Given the description of an element on the screen output the (x, y) to click on. 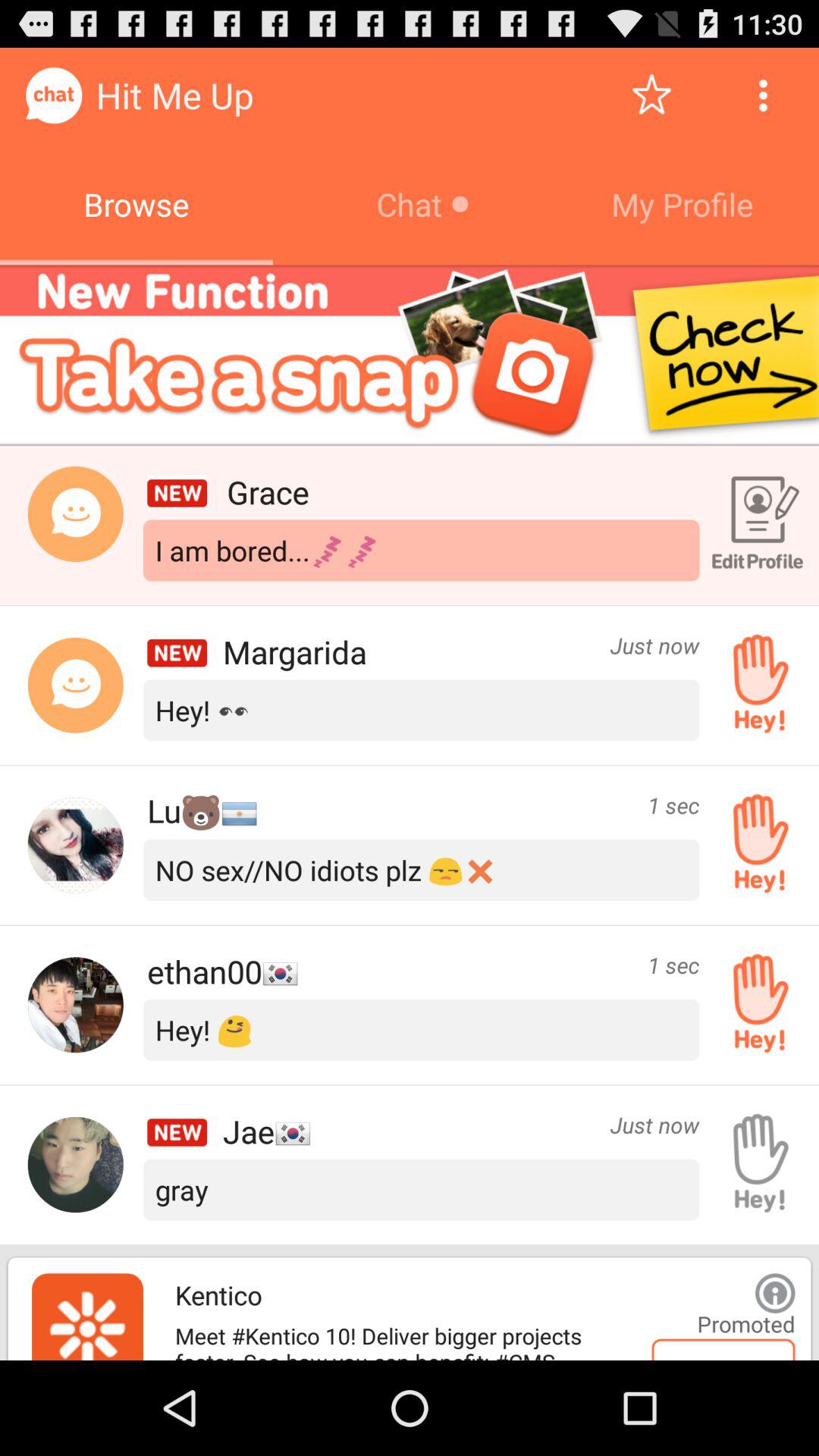
send hey (755, 685)
